Given the description of an element on the screen output the (x, y) to click on. 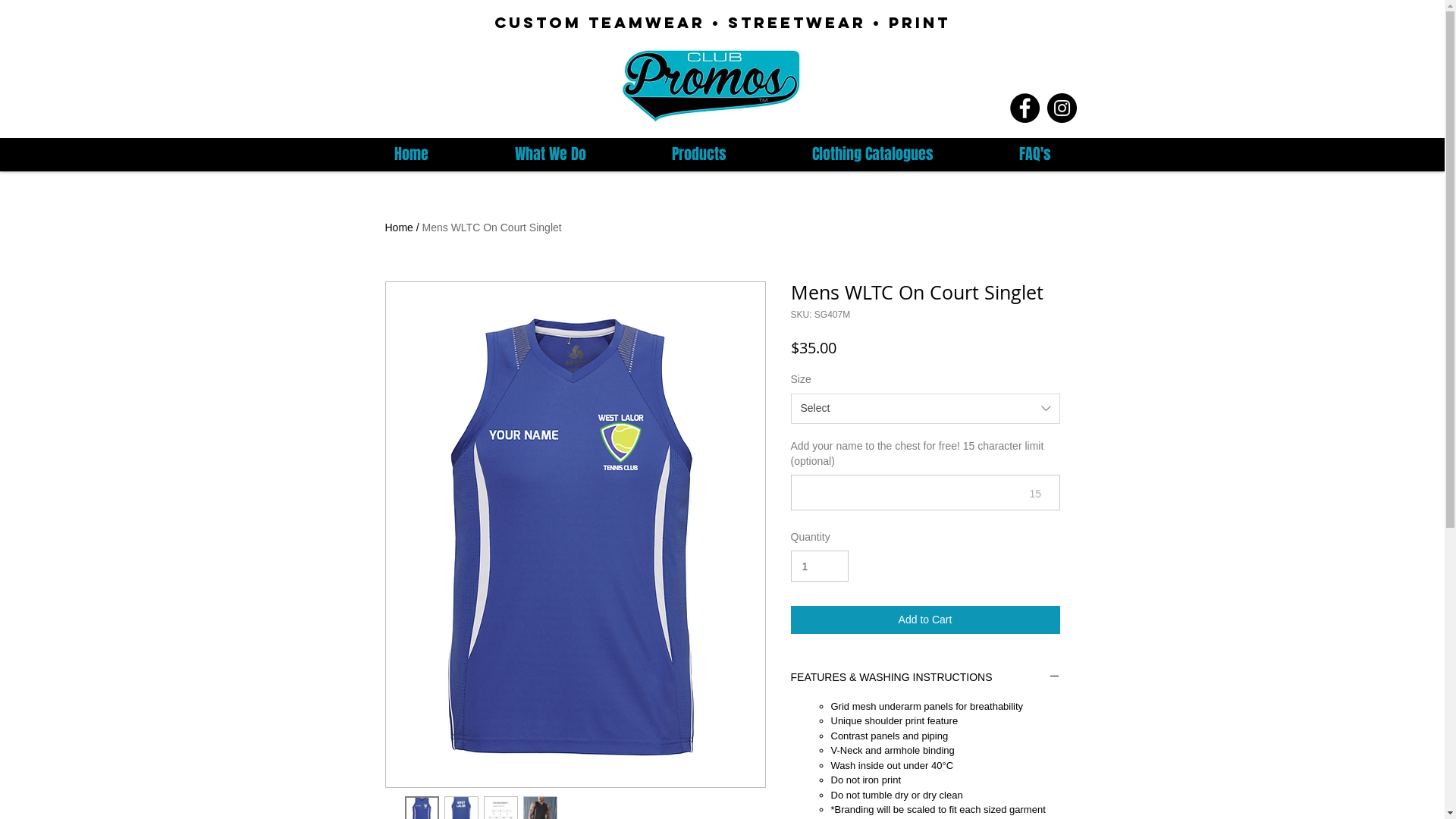
Mens WLTC On Court Singlet Element type: text (491, 227)
Home Element type: text (399, 227)
Embedded Content Element type: hover (194, 72)
Select Element type: text (924, 408)
FEATURES & WASHING INSTRUCTIONS Element type: text (924, 678)
Home Element type: text (410, 152)
What We Do Element type: text (550, 152)
Add to Cart Element type: text (924, 619)
FAQ's Element type: text (1035, 152)
Clothing Catalogues Element type: text (871, 152)
